Given the description of an element on the screen output the (x, y) to click on. 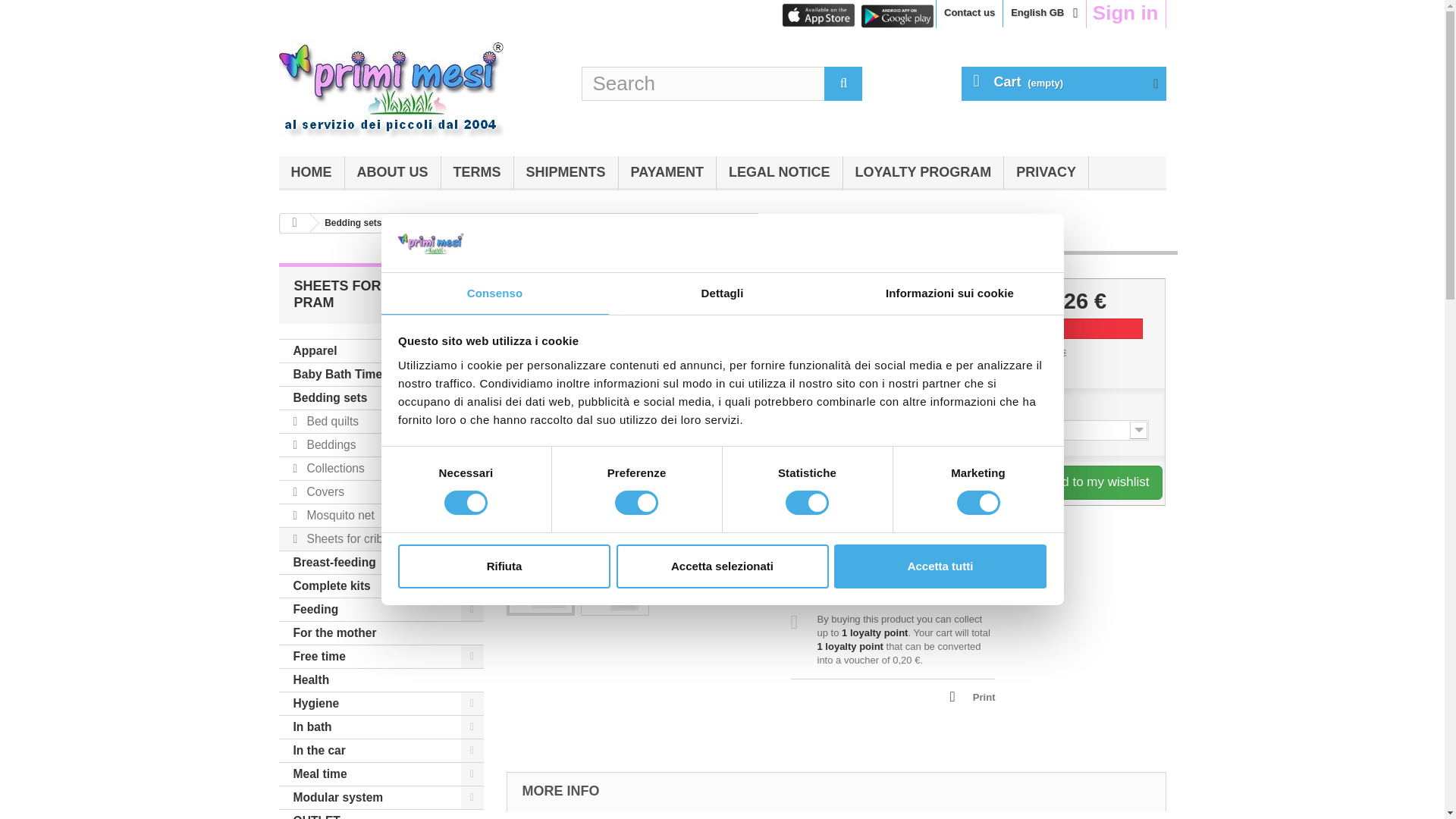
Informazioni sui cookie (948, 293)
Log in to your customer account (1126, 13)
Contact us (969, 13)
Dettagli (721, 293)
Primi Mesi (419, 88)
Consenso (494, 293)
